Given the description of an element on the screen output the (x, y) to click on. 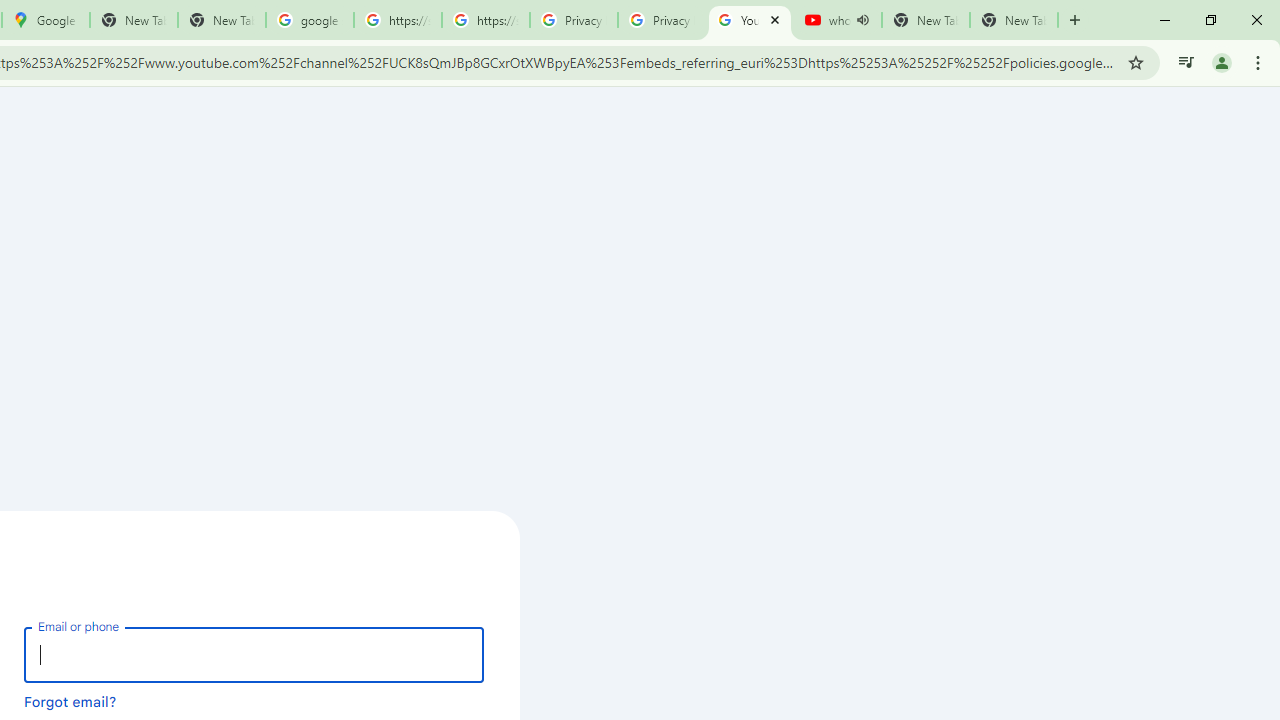
New Tab (1014, 20)
https://scholar.google.com/ (397, 20)
Email or phone (253, 654)
YouTube (749, 20)
https://scholar.google.com/ (485, 20)
